Given the description of an element on the screen output the (x, y) to click on. 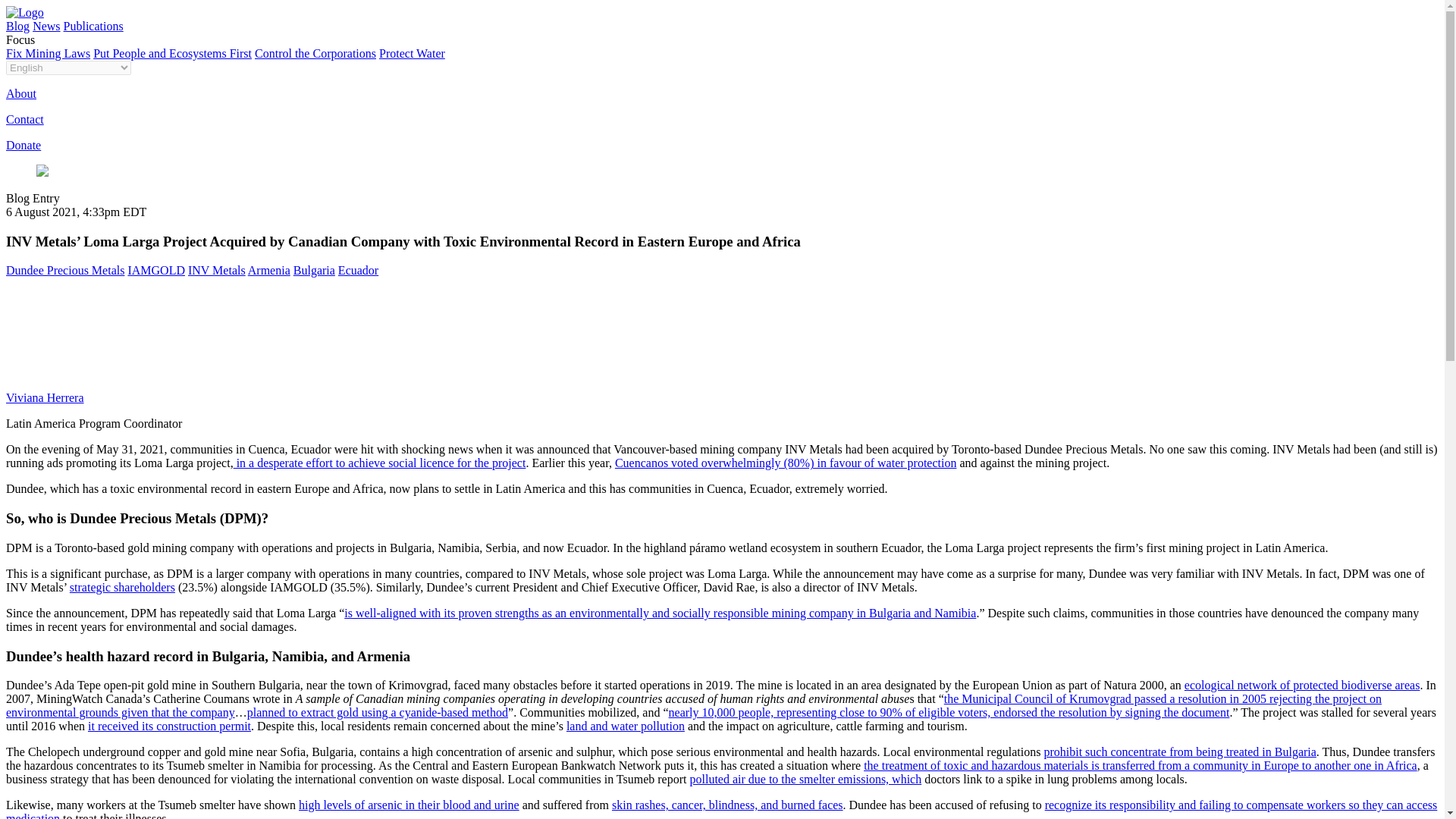
high levels of arsenic in their blood and urine (408, 804)
Donate (22, 144)
About (20, 92)
Control the Corporations (314, 52)
Put People and Ecosystems First (172, 52)
MiningWatch (24, 11)
Bulgaria (314, 269)
strategic shareholders (121, 586)
INV Metals (216, 269)
